Given the description of an element on the screen output the (x, y) to click on. 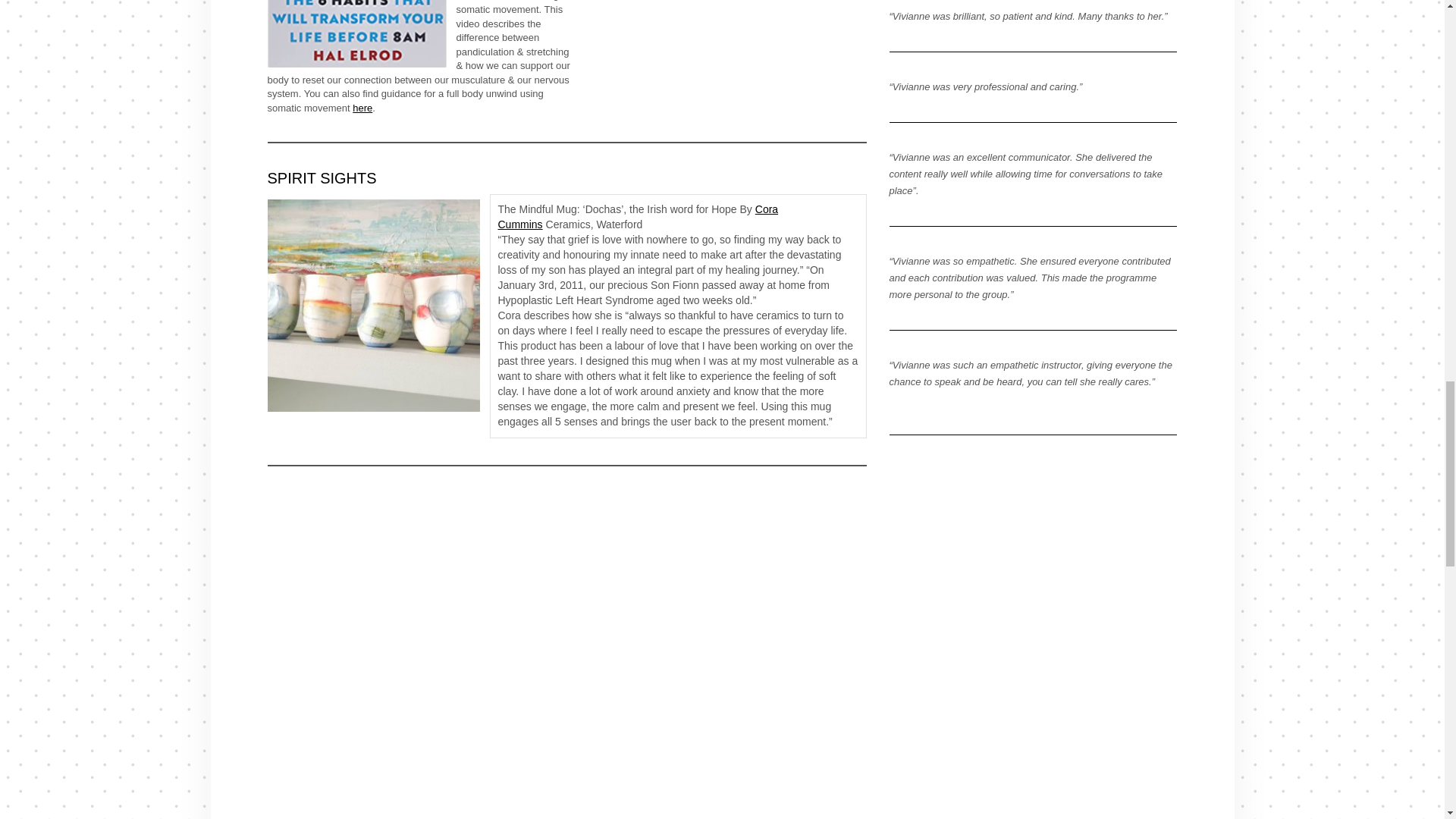
Stretching Vs. Pandiculation (729, 52)
here (362, 107)
Cora Cummins (637, 216)
